Given the description of an element on the screen output the (x, y) to click on. 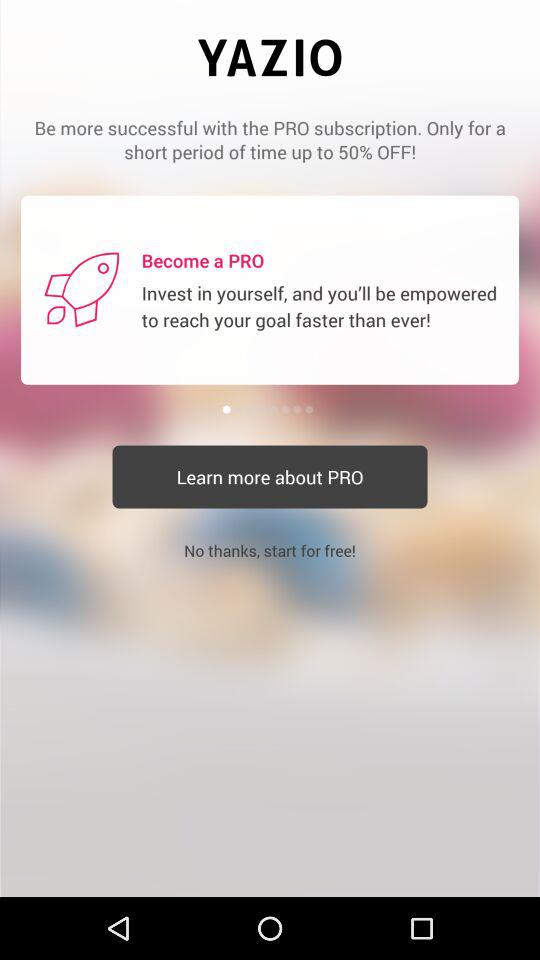
open the no thanks start item (269, 550)
